Given the description of an element on the screen output the (x, y) to click on. 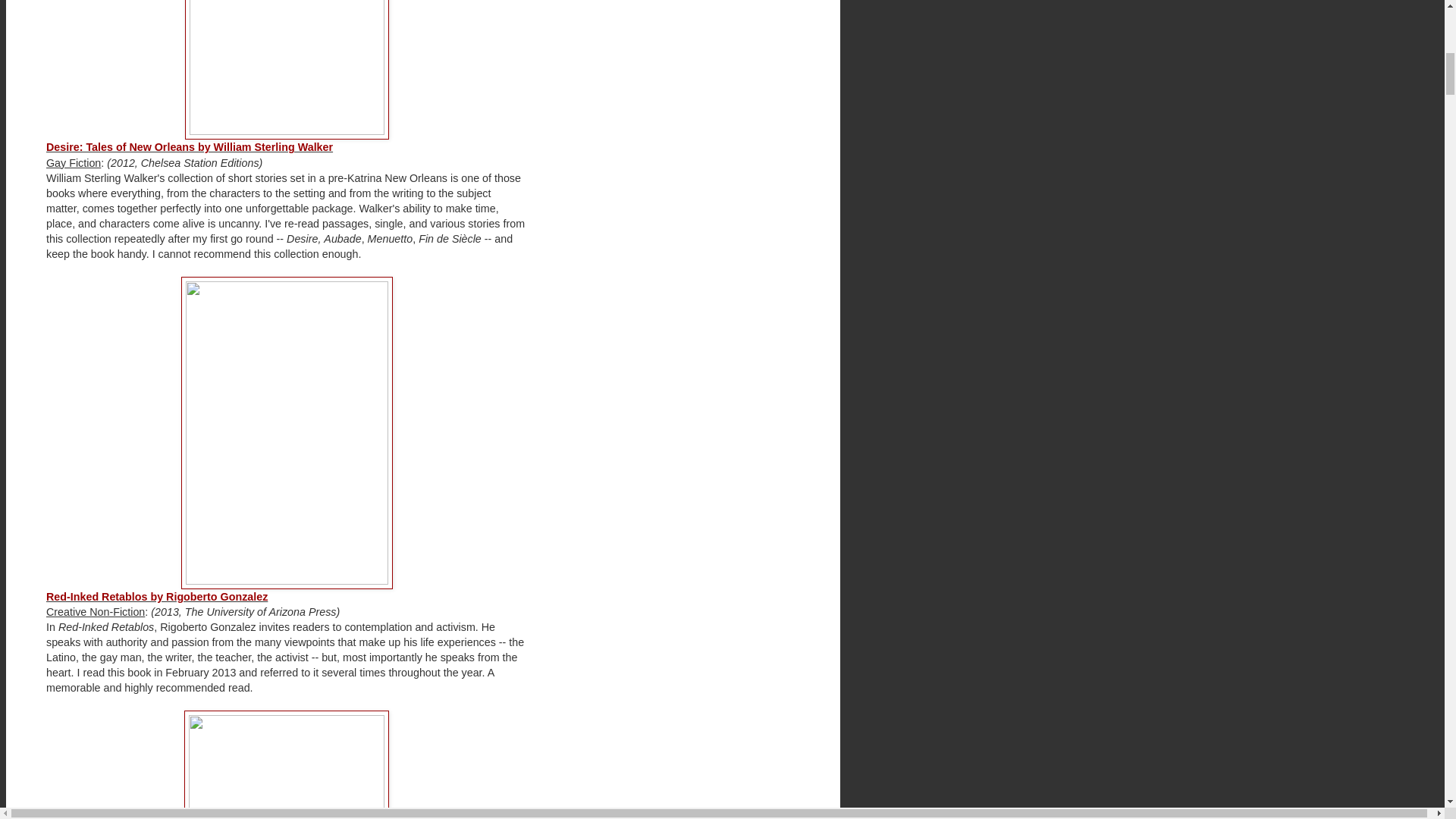
Desire: Tales of New Orleans by William Sterling Walker (189, 146)
Red-Inked Retablos by Rigoberto Gonzalez (156, 596)
